Given the description of an element on the screen output the (x, y) to click on. 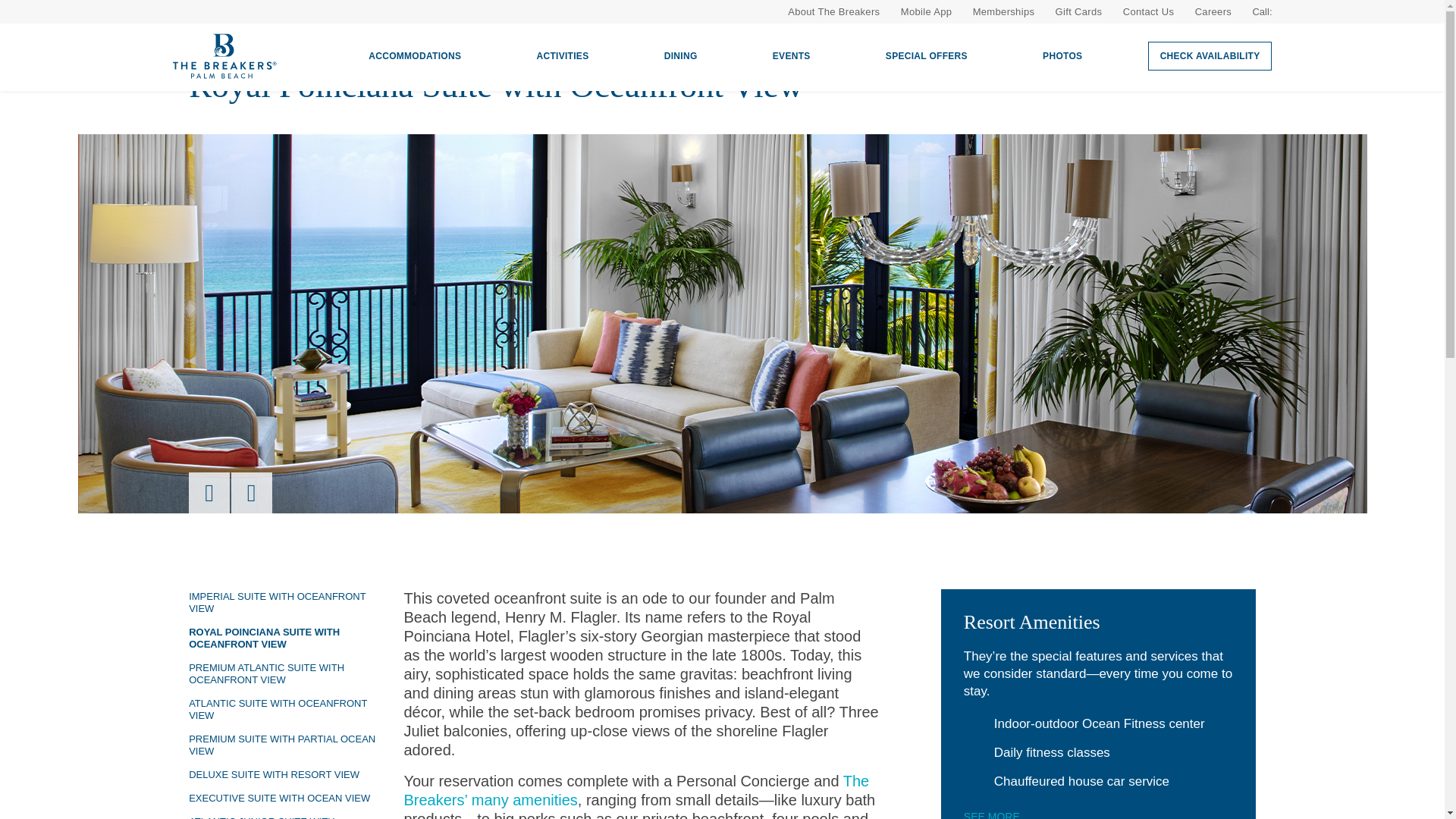
ACTIVITIES (561, 55)
DINING (680, 55)
Next Image (251, 492)
ACCOMMODATIONS (414, 55)
Previous Image (209, 492)
EVENTS (791, 55)
